Given the description of an element on the screen output the (x, y) to click on. 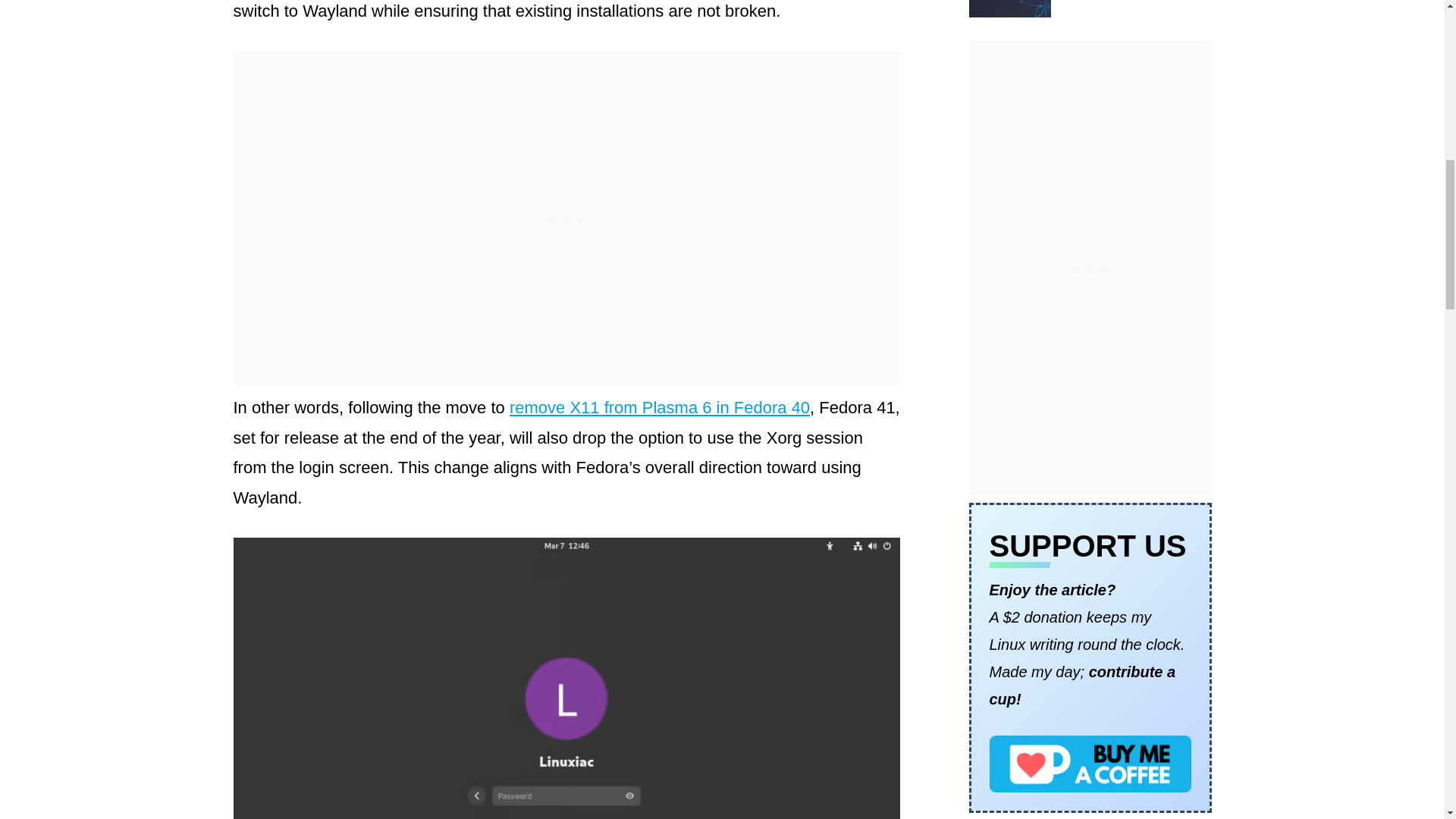
remove X11 from Plasma 6 in Fedora 40 (659, 407)
